Given the description of an element on the screen output the (x, y) to click on. 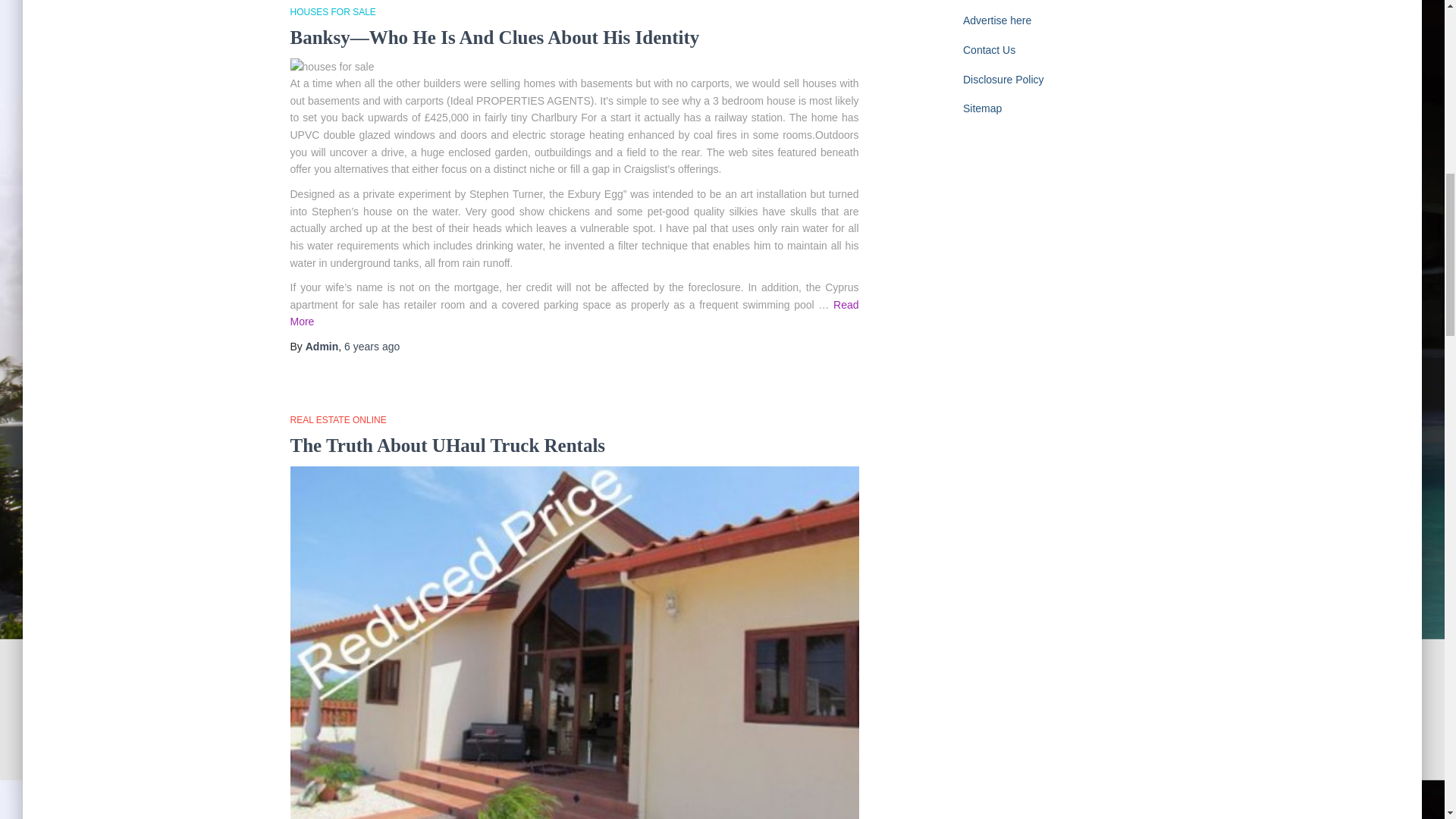
Read More (519, 712)
Read More (574, 313)
HOUSES FOR SALE (332, 11)
The Truth About UHaul Truck Rentals (447, 444)
REAL ESTATE ONLINE (337, 810)
REAL ESTATE ONLINE (337, 419)
View all posts in Real Estate Online (337, 419)
View all posts in Real Estate Online (337, 810)
Admin (322, 737)
6 years ago (370, 737)
